Given the description of an element on the screen output the (x, y) to click on. 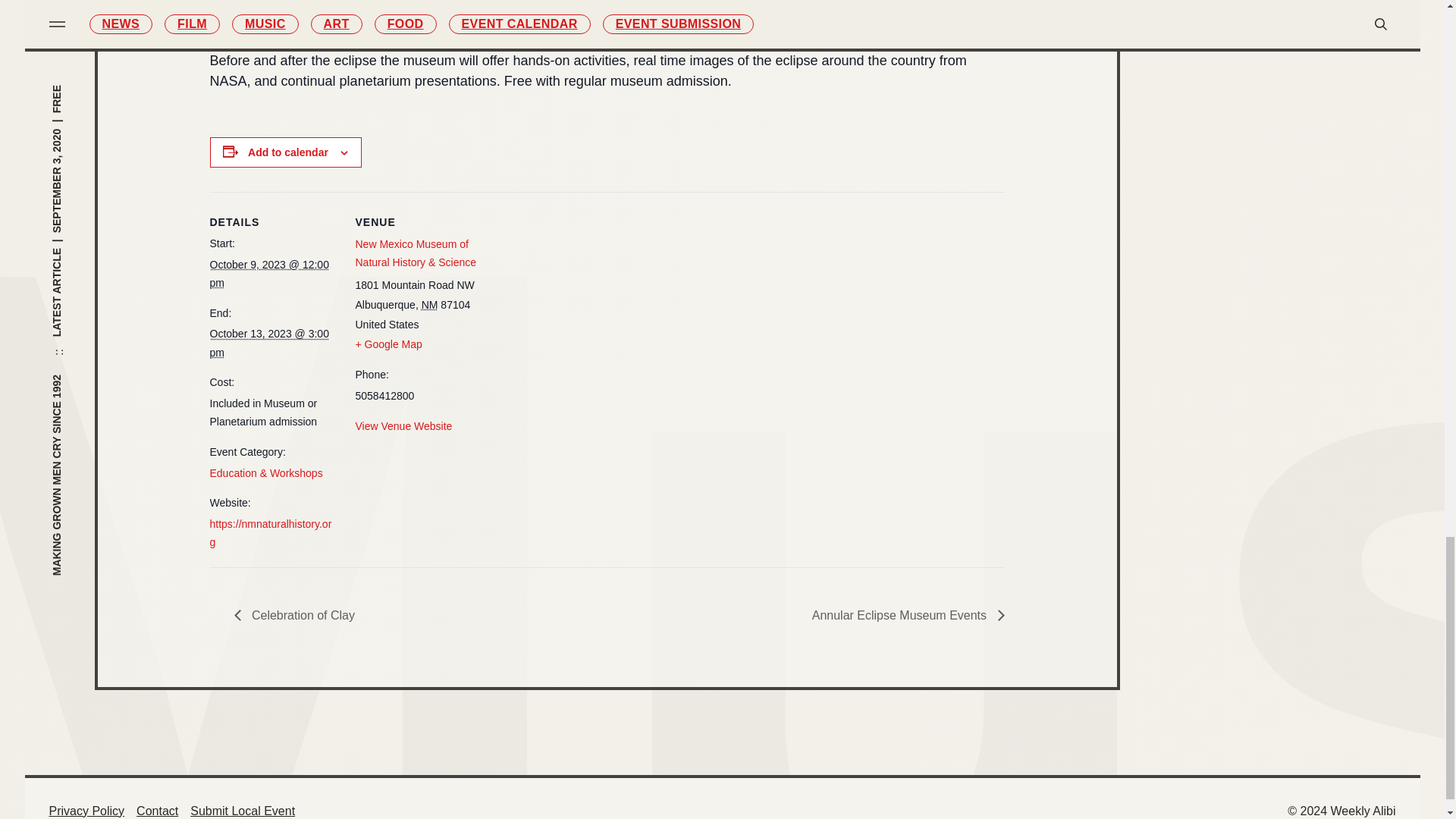
2023-10-09 (269, 273)
View Venue Website (403, 425)
Celebration of Clay (297, 615)
2023-10-13 (269, 342)
Annular Eclipse Museum Events (903, 615)
New Mexico (430, 304)
Click to view a Google Map (388, 343)
Add to calendar (288, 151)
